Given the description of an element on the screen output the (x, y) to click on. 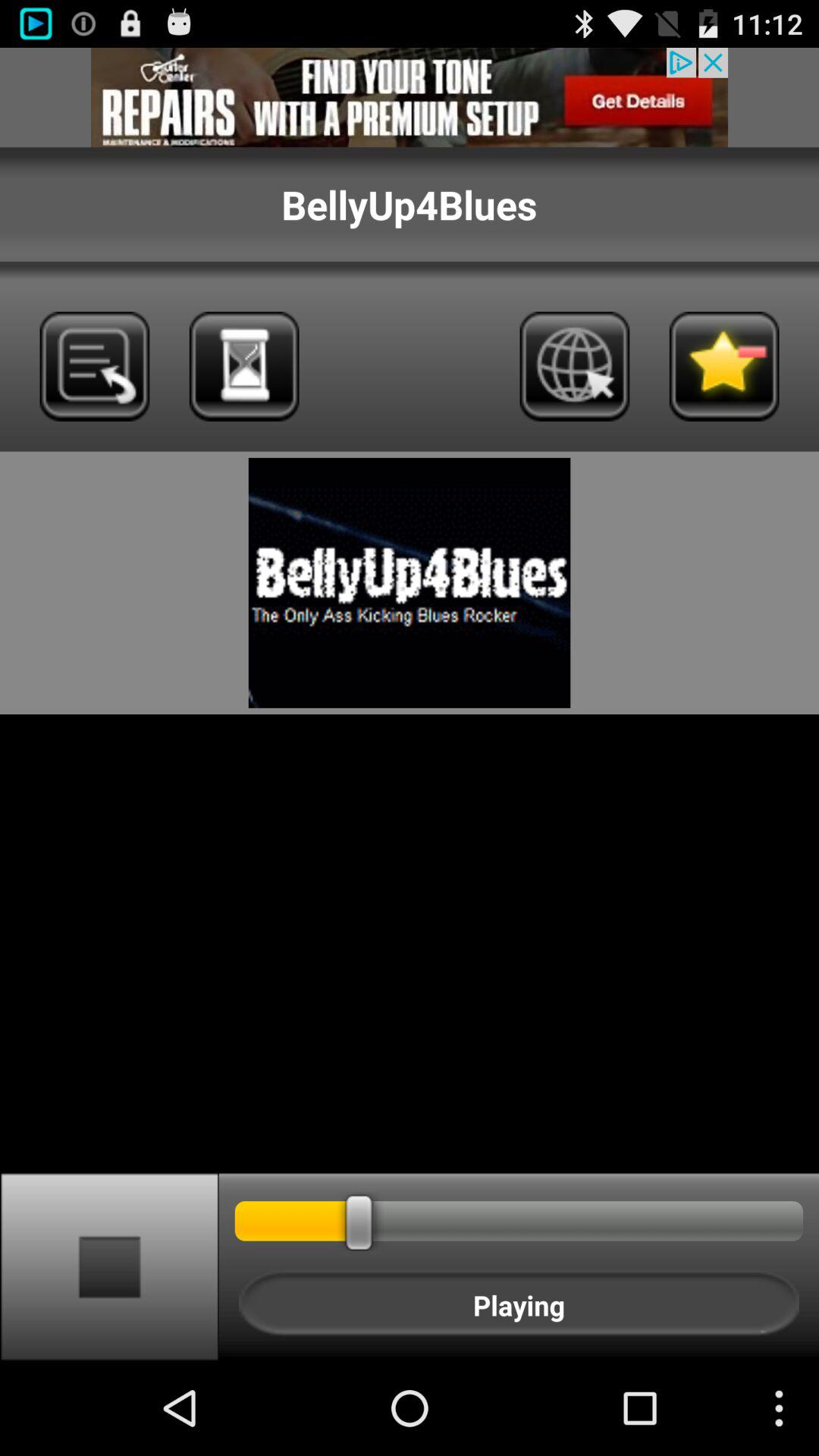
play button (109, 1266)
